Given the description of an element on the screen output the (x, y) to click on. 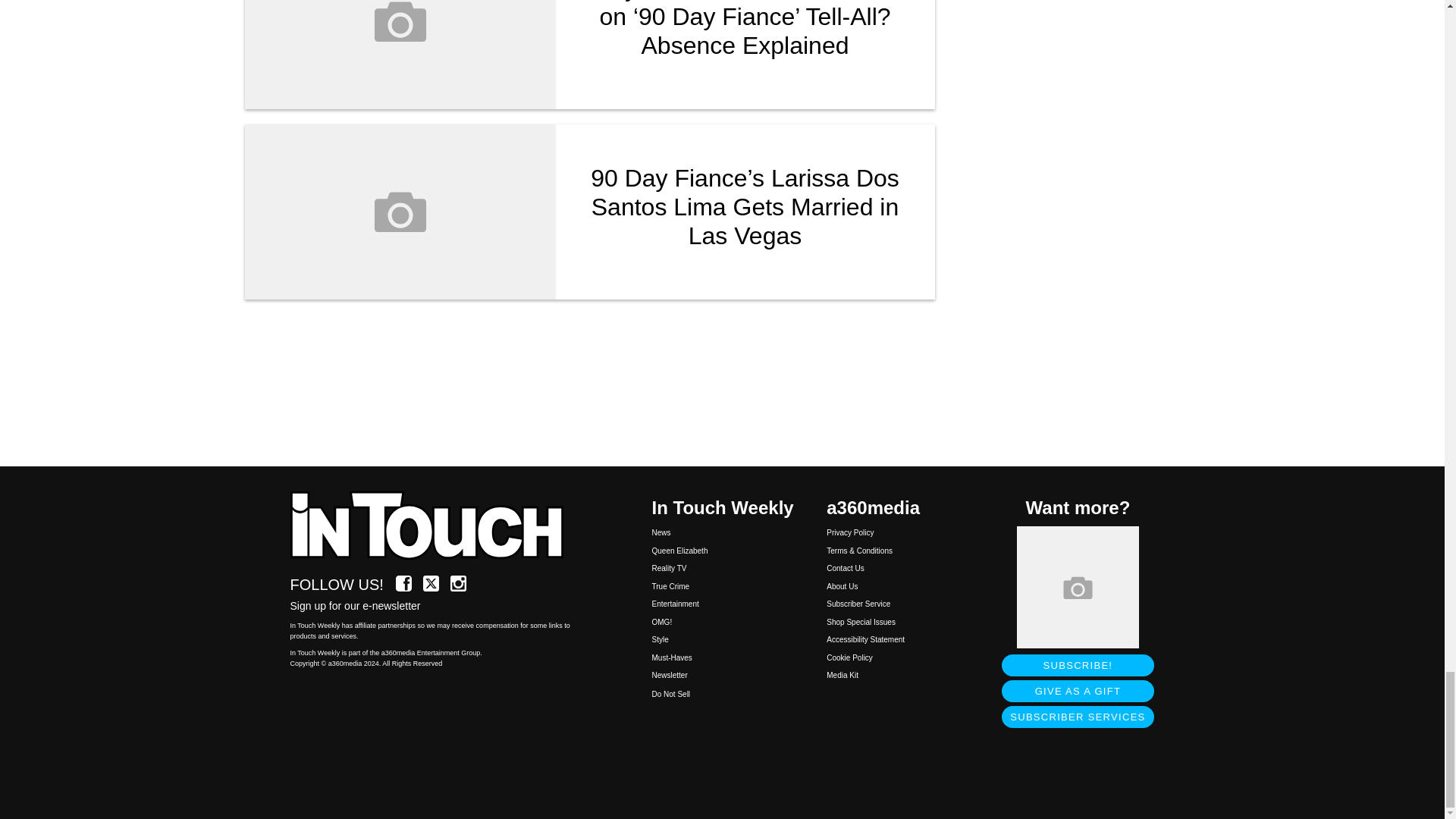
Home (434, 526)
